Given the description of an element on the screen output the (x, y) to click on. 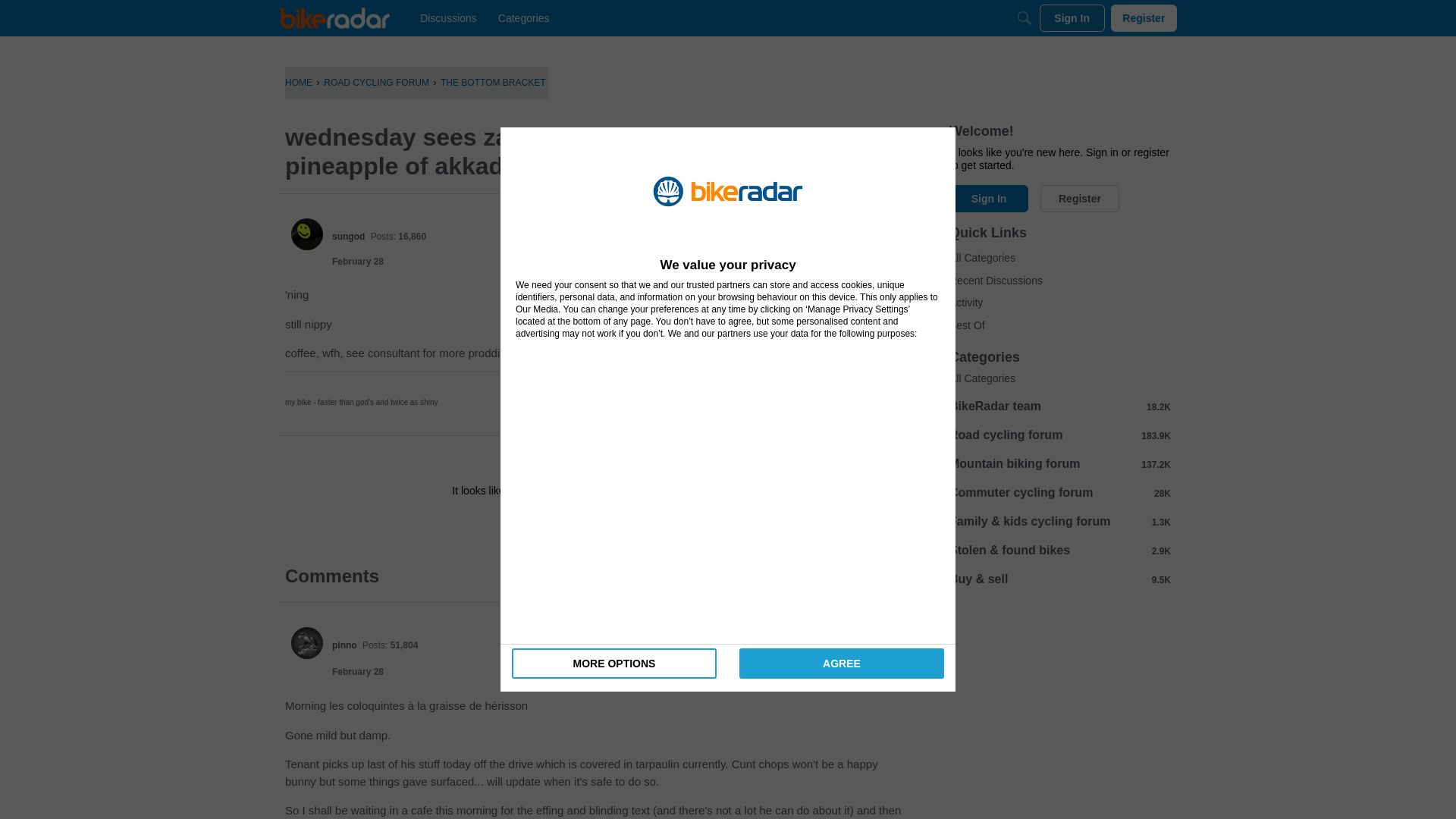
Discussions (448, 17)
Categories (524, 17)
Search (1024, 17)
February 28 (357, 261)
THE BOTTOM BRACKET (492, 81)
Sign In (1072, 17)
February 28, 2024 7:59AM (357, 671)
ROAD CYCLING FORUM (376, 81)
Register (638, 524)
Sign In (547, 524)
sungod (348, 235)
pinno (343, 644)
Sign In (547, 524)
February 28 (357, 671)
Register (638, 524)
